Given the description of an element on the screen output the (x, y) to click on. 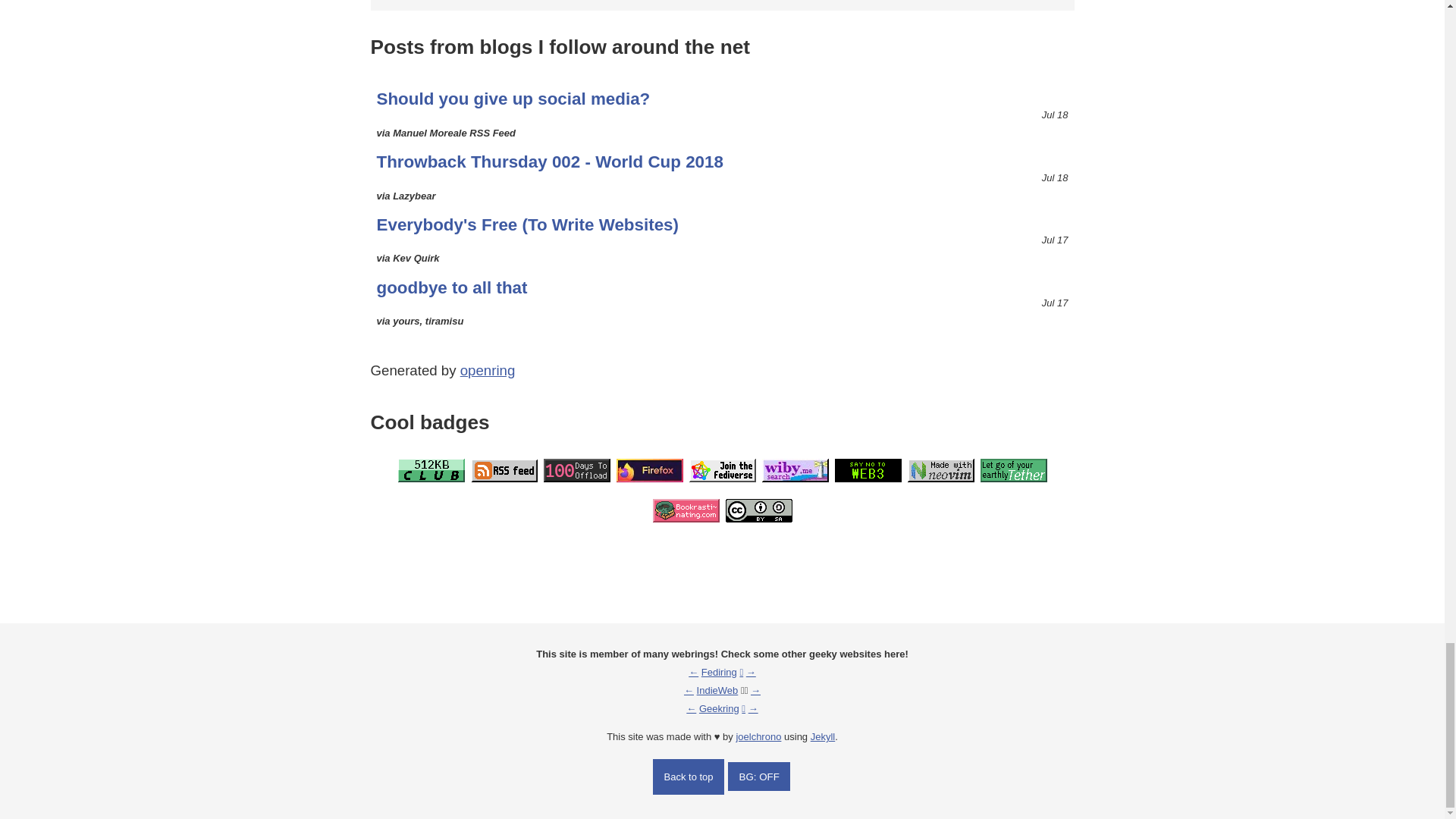
Switch to Void Linux (1012, 470)
Join me on the Fediverse! (721, 470)
Join 100 Days To Offload with me! (576, 470)
Member of the 512KB Club Green's team (721, 302)
Made with neovim (430, 470)
Anything but Chrome (940, 470)
Say no to web3 (648, 470)
Wiby: the search engine for the classic web! (867, 470)
RSS feed (794, 470)
openring (721, 177)
